Given the description of an element on the screen output the (x, y) to click on. 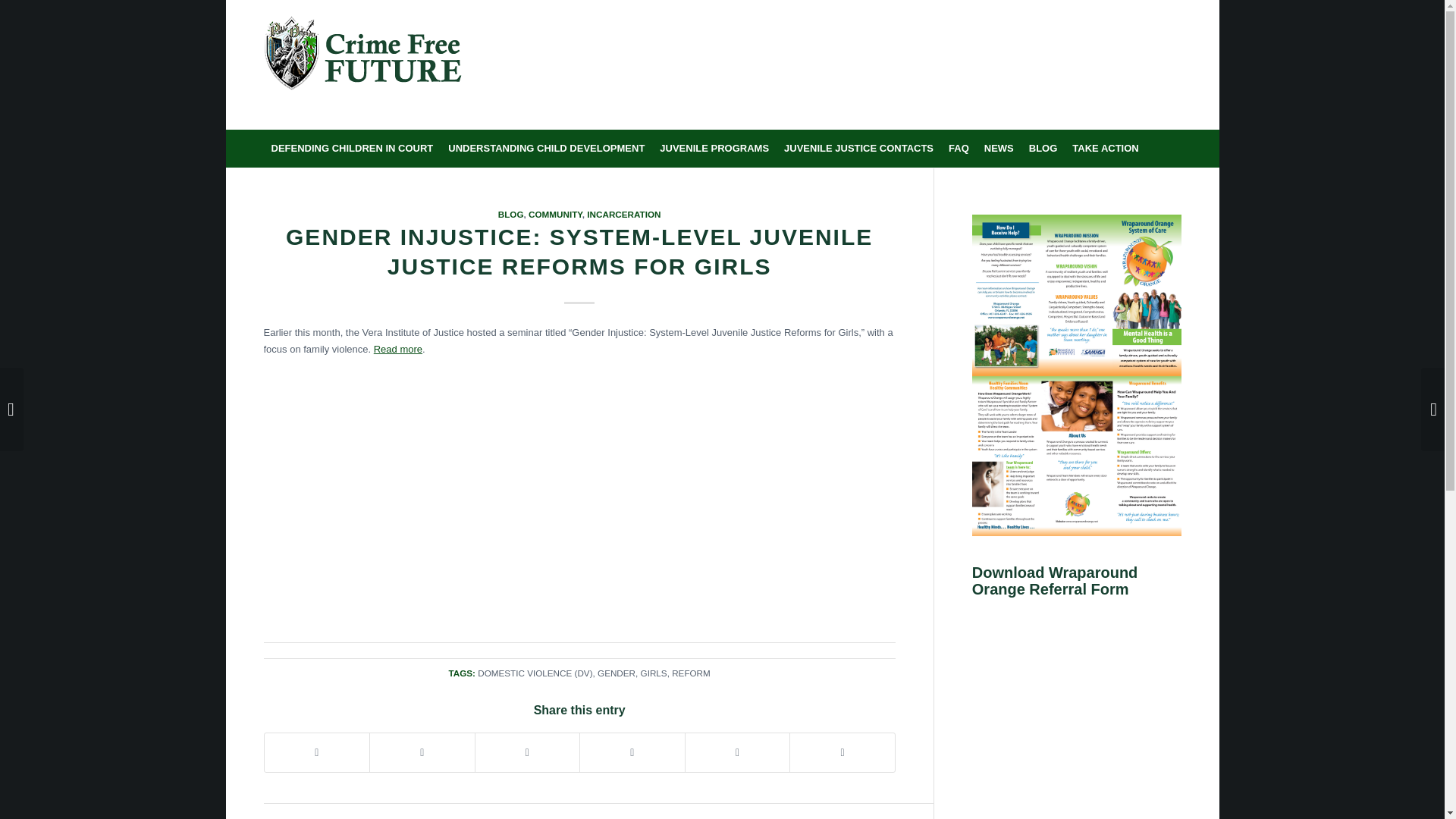
JUVENILE PROGRAMS (714, 148)
REFORM (690, 673)
Read more (398, 348)
FAQ (958, 148)
COMMUNITY (555, 214)
BLOG (510, 214)
GENDER (615, 673)
JUVENILE JUSTICE CONTACTS (858, 148)
cff-logo (363, 71)
UNDERSTANDING CHILD DEVELOPMENT (546, 148)
